Given the description of an element on the screen output the (x, y) to click on. 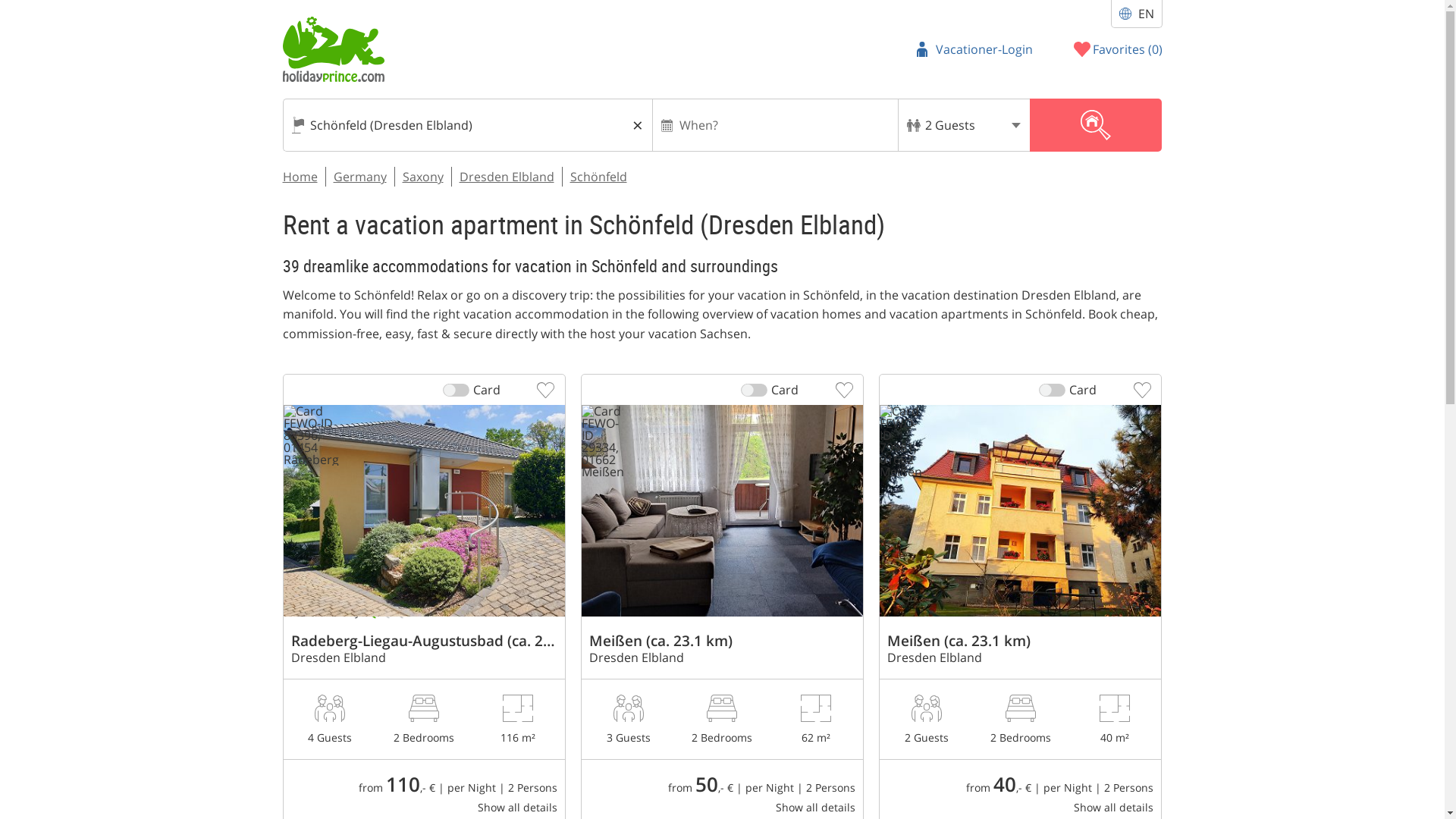
Vacation apartment Mey Nr. 1, Dresden Elbland (721, 711)
Favorites holidayprince.com (1117, 48)
Home (299, 176)
Vacationer-Login (973, 48)
Vacation home Liebender, Dresden Elbland (423, 711)
Dresden Elbland (507, 176)
Vacation apartment Mey Nr. 2, Dresden Elbland (1019, 711)
2 Guests (963, 124)
Vacationer-Login holidayprince.com (973, 48)
Saxony (421, 176)
Germany (360, 176)
2 Guests (963, 124)
